Given the description of an element on the screen output the (x, y) to click on. 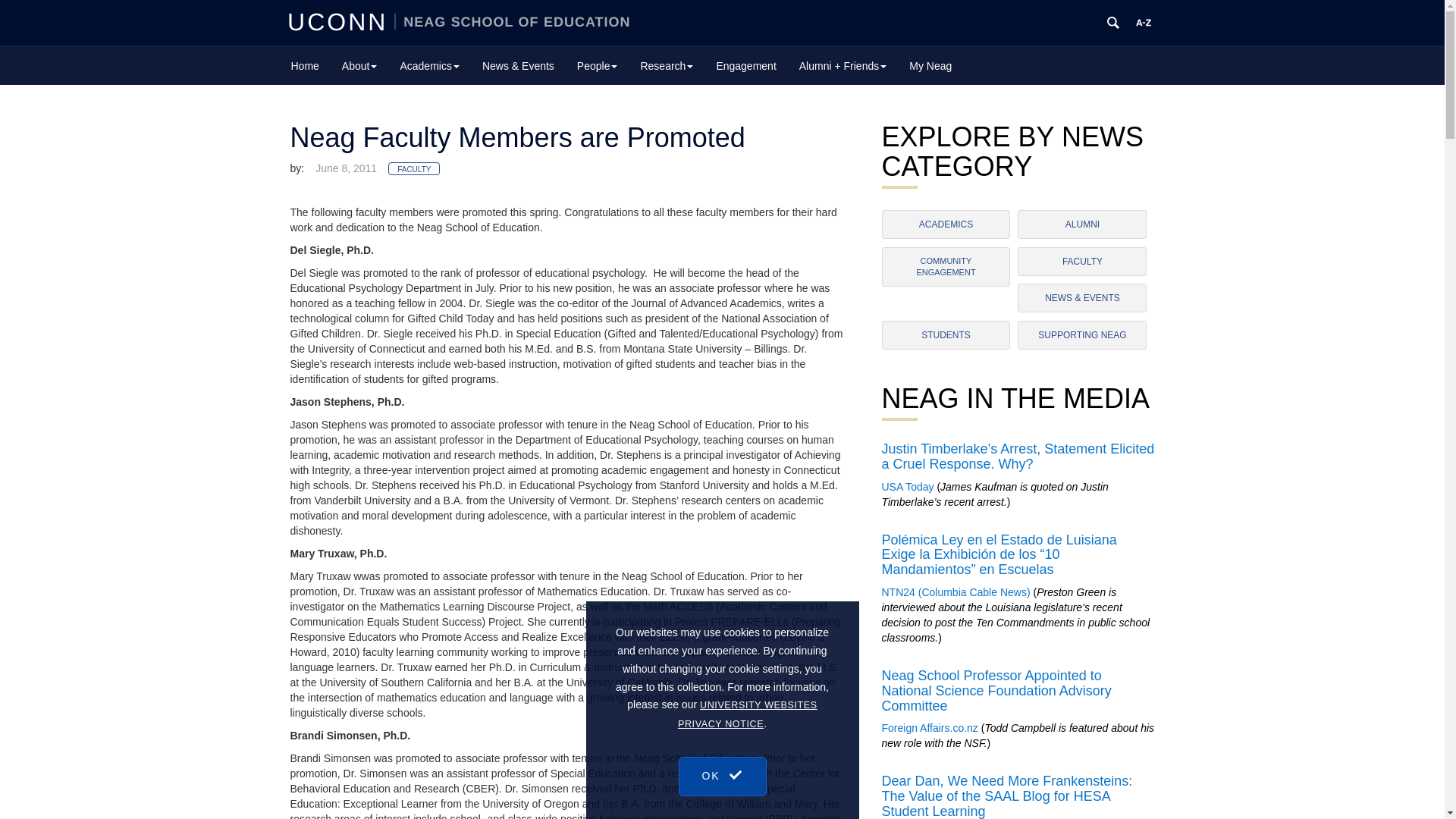
UCONN A TO Z INDEX (1143, 22)
Academics (429, 65)
UCONN (340, 21)
Home (304, 65)
SEARCH UCONN (1112, 22)
NEAG SCHOOL OF EDUCATION (512, 21)
View all posts in Faculty (413, 168)
About (359, 65)
